Given the description of an element on the screen output the (x, y) to click on. 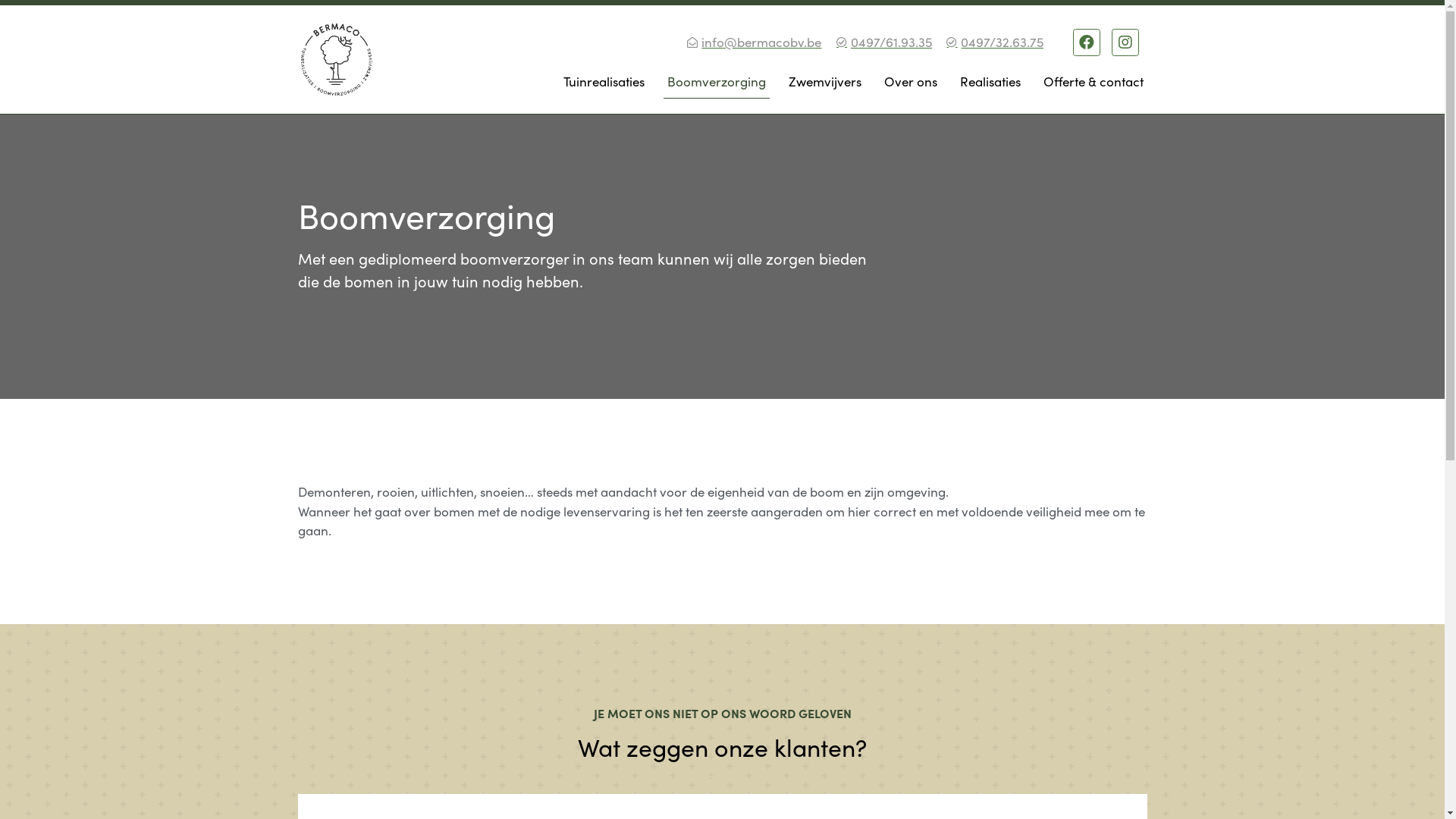
Over ons Element type: text (909, 80)
Realisaties Element type: text (989, 80)
Offerte & contact Element type: text (1092, 80)
Zwemvijvers Element type: text (824, 80)
Tuinrealisaties Element type: text (603, 80)
0497/32.63.75 Element type: text (994, 42)
info@bermacobv.be Element type: text (753, 42)
0497/61.93.35 Element type: text (882, 42)
Boomverzorging Element type: text (715, 80)
